Given the description of an element on the screen output the (x, y) to click on. 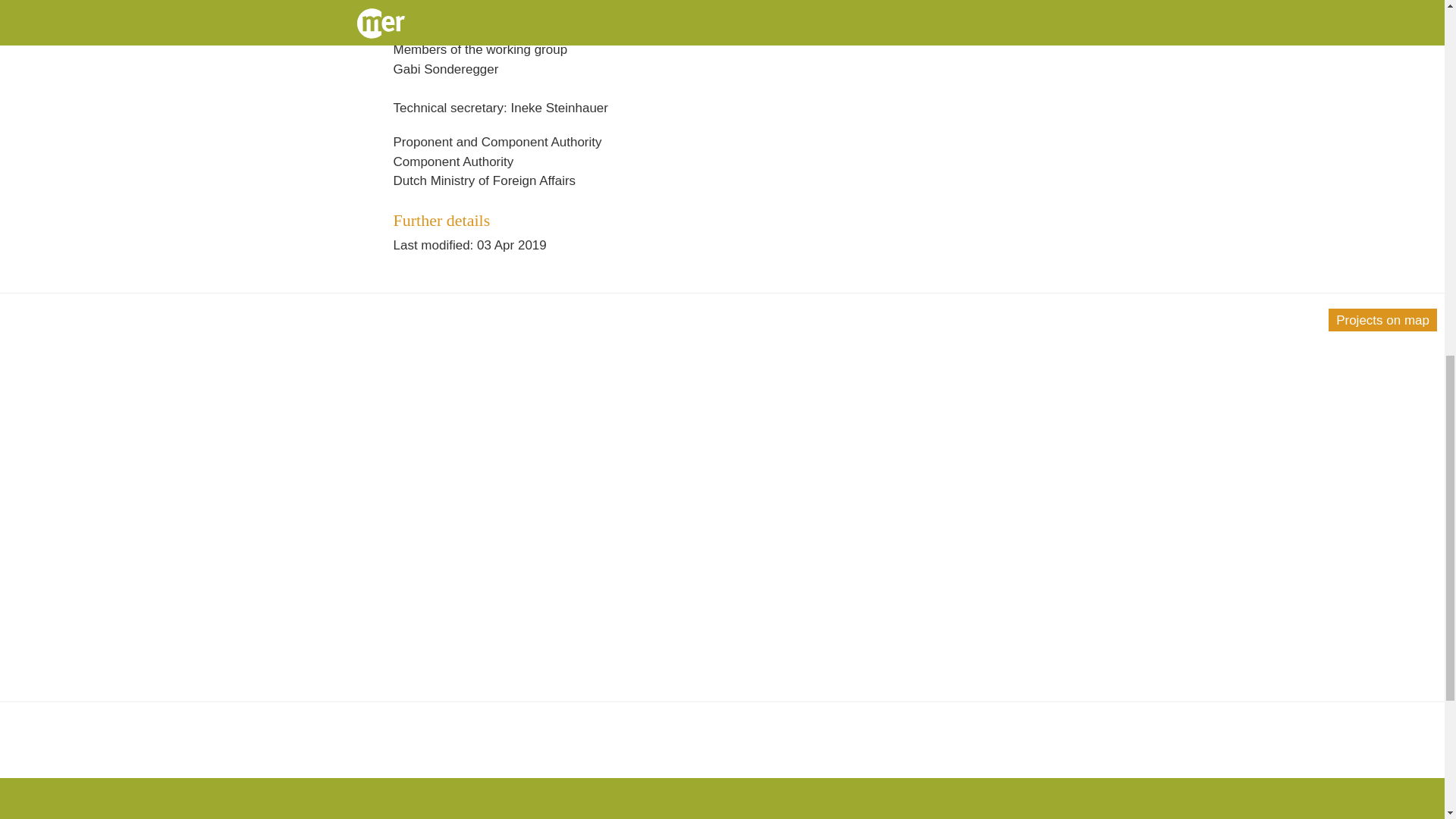
Projects on map (1382, 319)
